Given the description of an element on the screen output the (x, y) to click on. 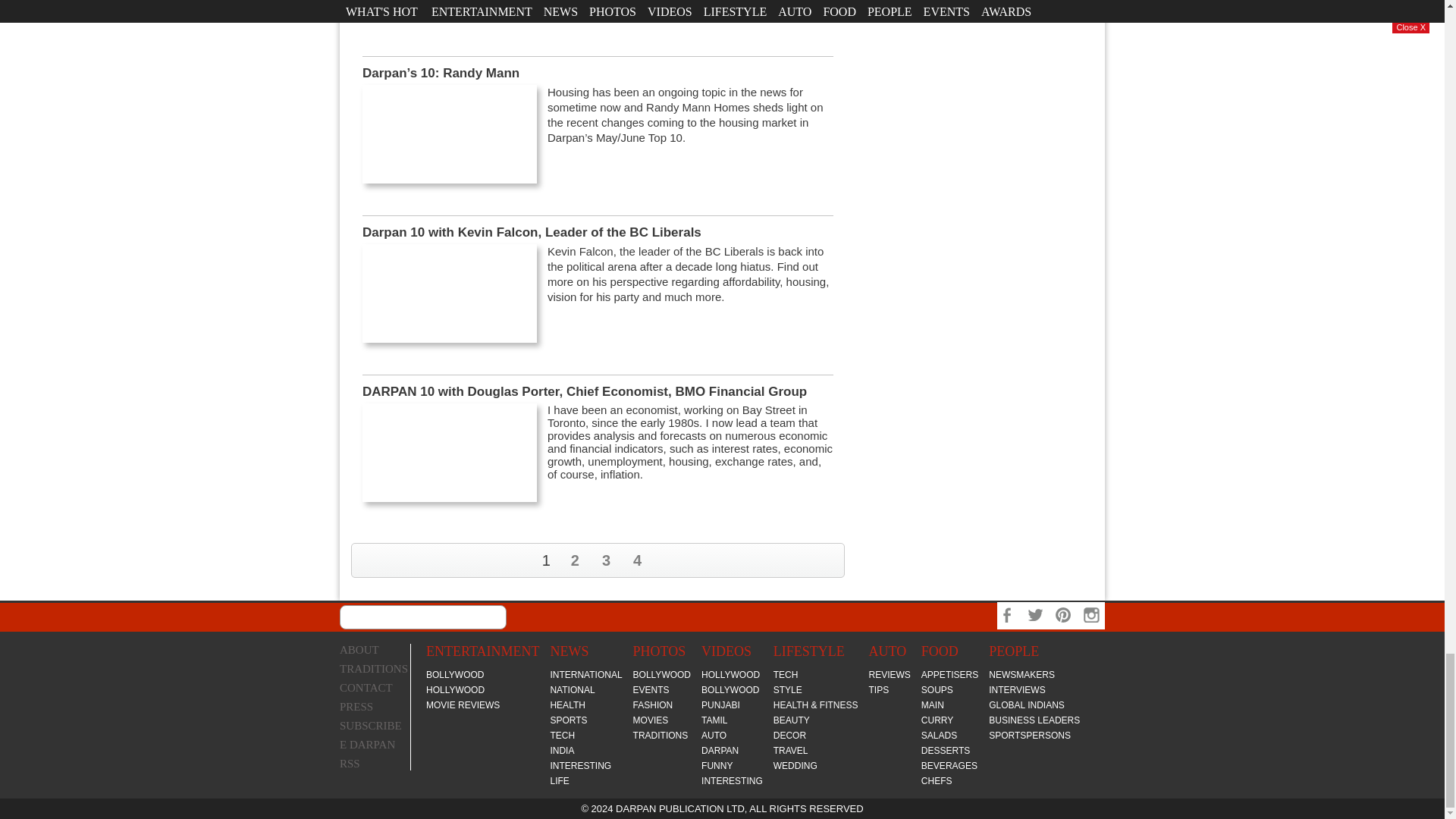
Next (830, 560)
Prev (365, 559)
